Given the description of an element on the screen output the (x, y) to click on. 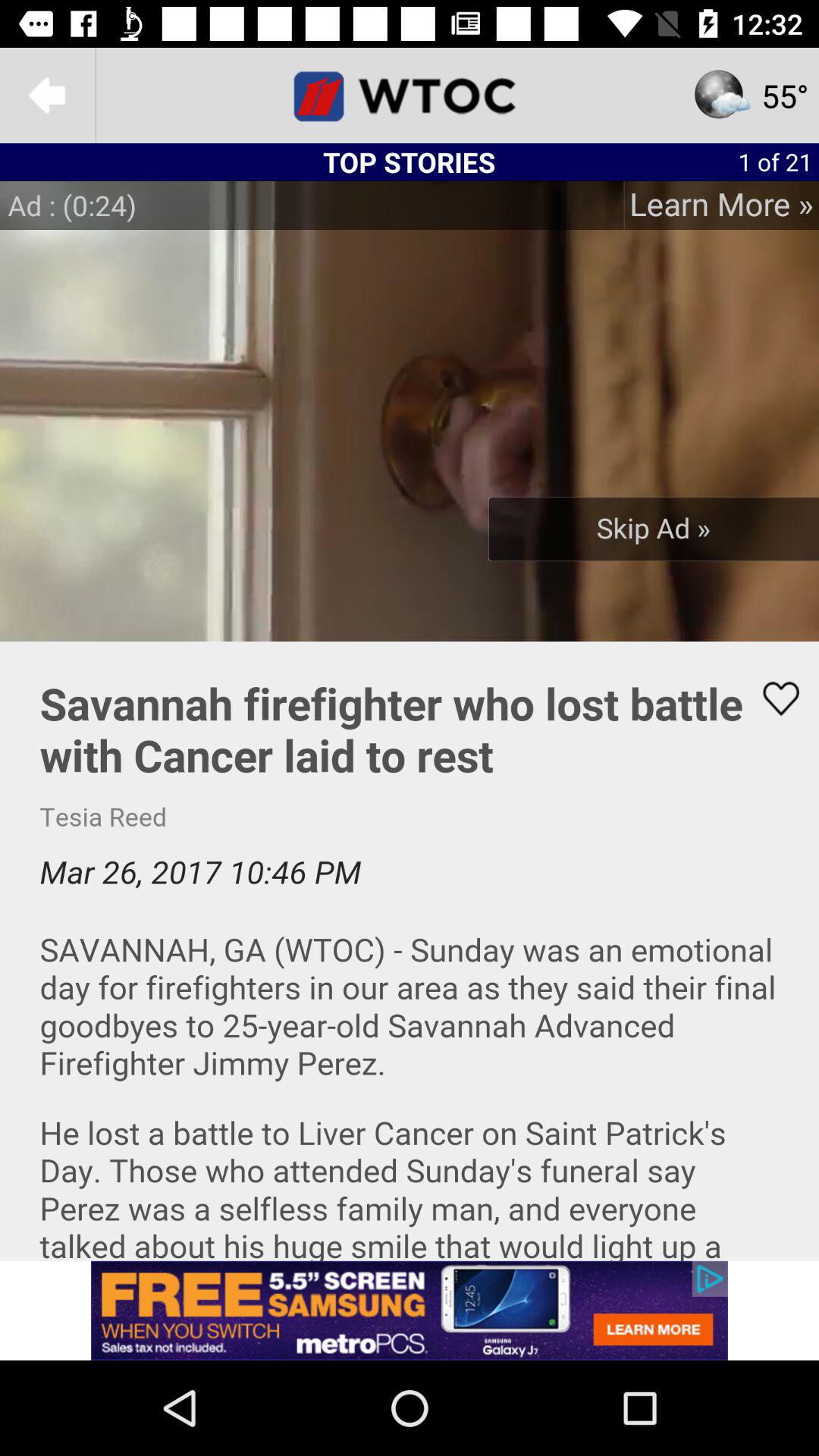
like heart botton (771, 698)
